Given the description of an element on the screen output the (x, y) to click on. 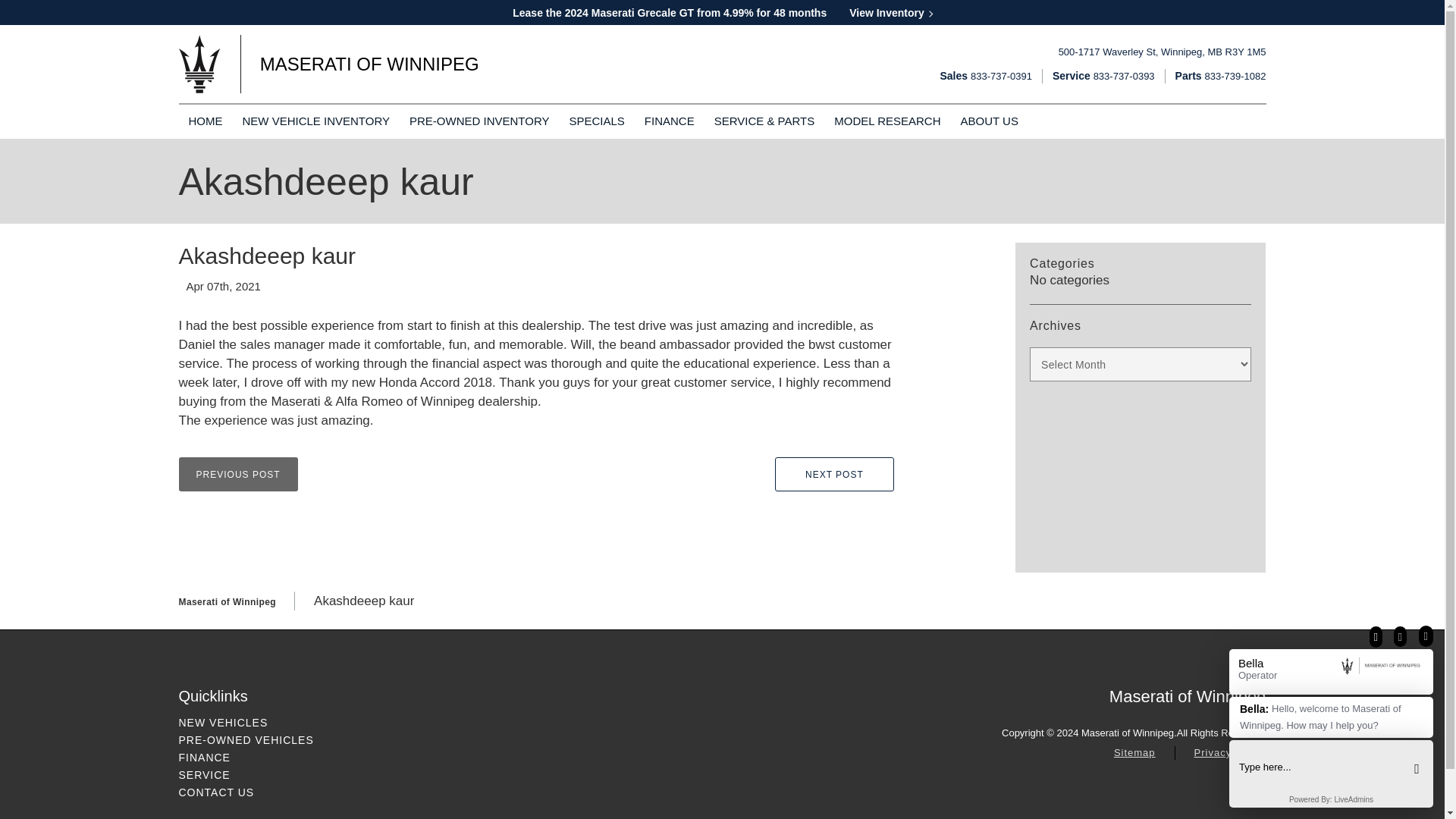
PRE-OWNED INVENTORY (478, 121)
HOME (204, 121)
Sales 833-737-0391 (984, 75)
Parts 833-739-1082 (1220, 75)
Service 833-737-0393 (1103, 75)
View Inventory (889, 12)
SPECIALS (596, 121)
Powered by EDealer (1235, 789)
FINANCE (669, 121)
NEW VEHICLE INVENTORY (316, 121)
MASERATI OF WINNIPEG (329, 64)
Go to Maserati of Winnipeg. (227, 602)
